Given the description of an element on the screen output the (x, y) to click on. 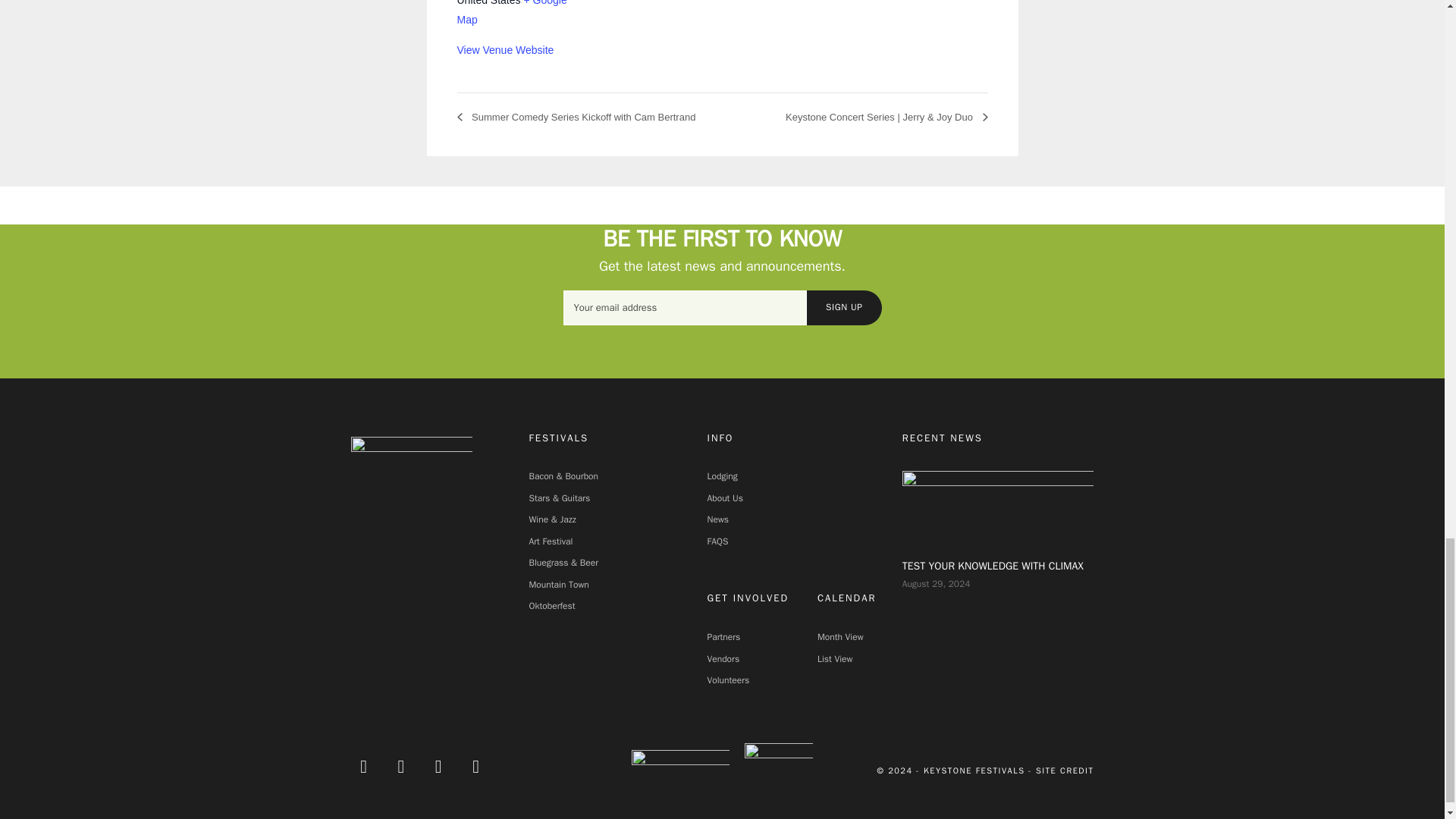
TEST YOUR KNOWLEDGE WITH CLIMAX (998, 505)
Click to view a Google Map (511, 12)
Facebook (363, 766)
Twitter (400, 766)
Youtube (475, 766)
Instagram (438, 766)
